Given the description of an element on the screen output the (x, y) to click on. 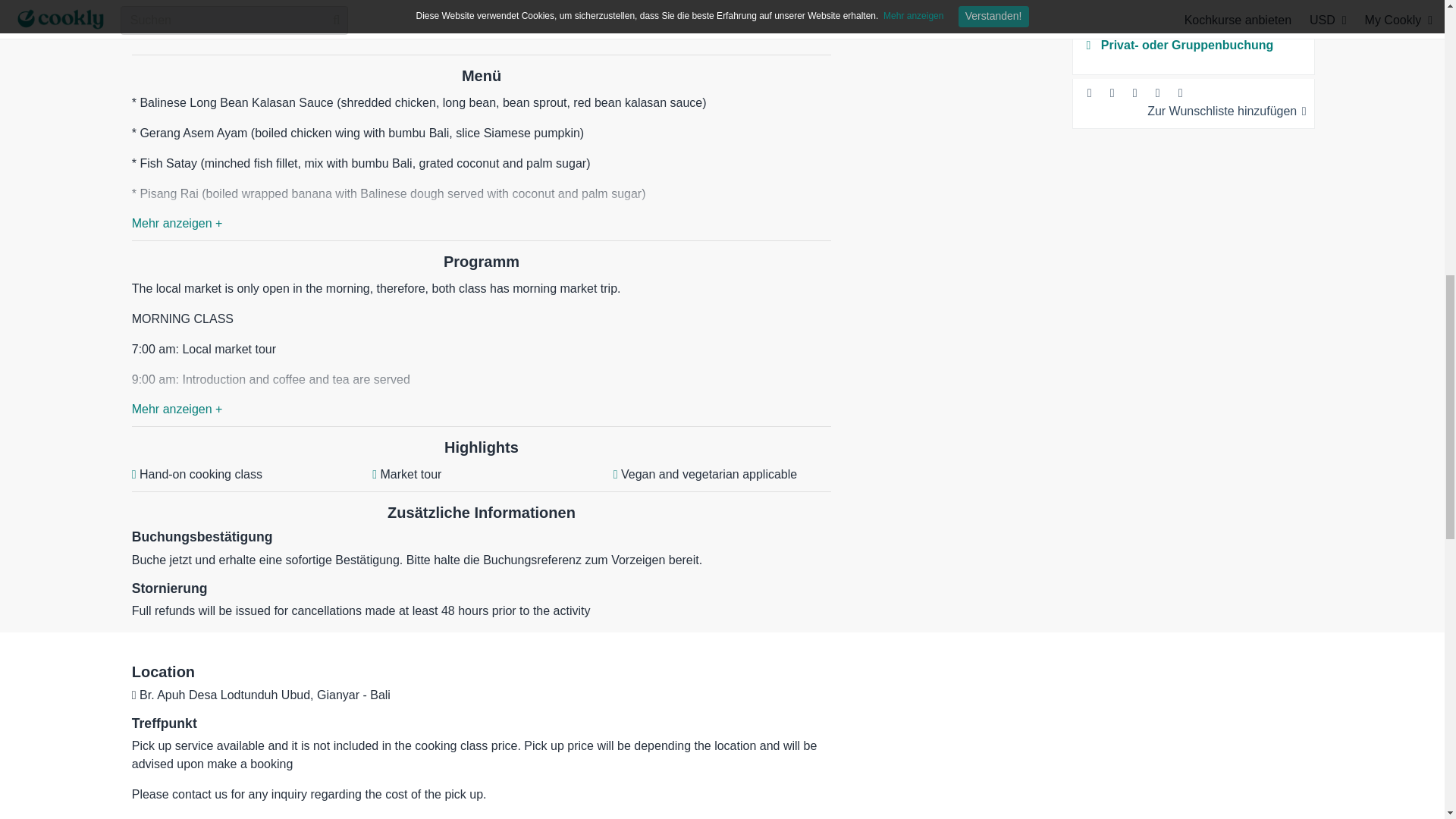
Sunday (624, 218)
Next (848, 190)
Wednesday (737, 218)
Saturday (841, 218)
Prev (619, 190)
Thursday (775, 218)
Monday (663, 218)
Tuesday (700, 218)
